Given the description of an element on the screen output the (x, y) to click on. 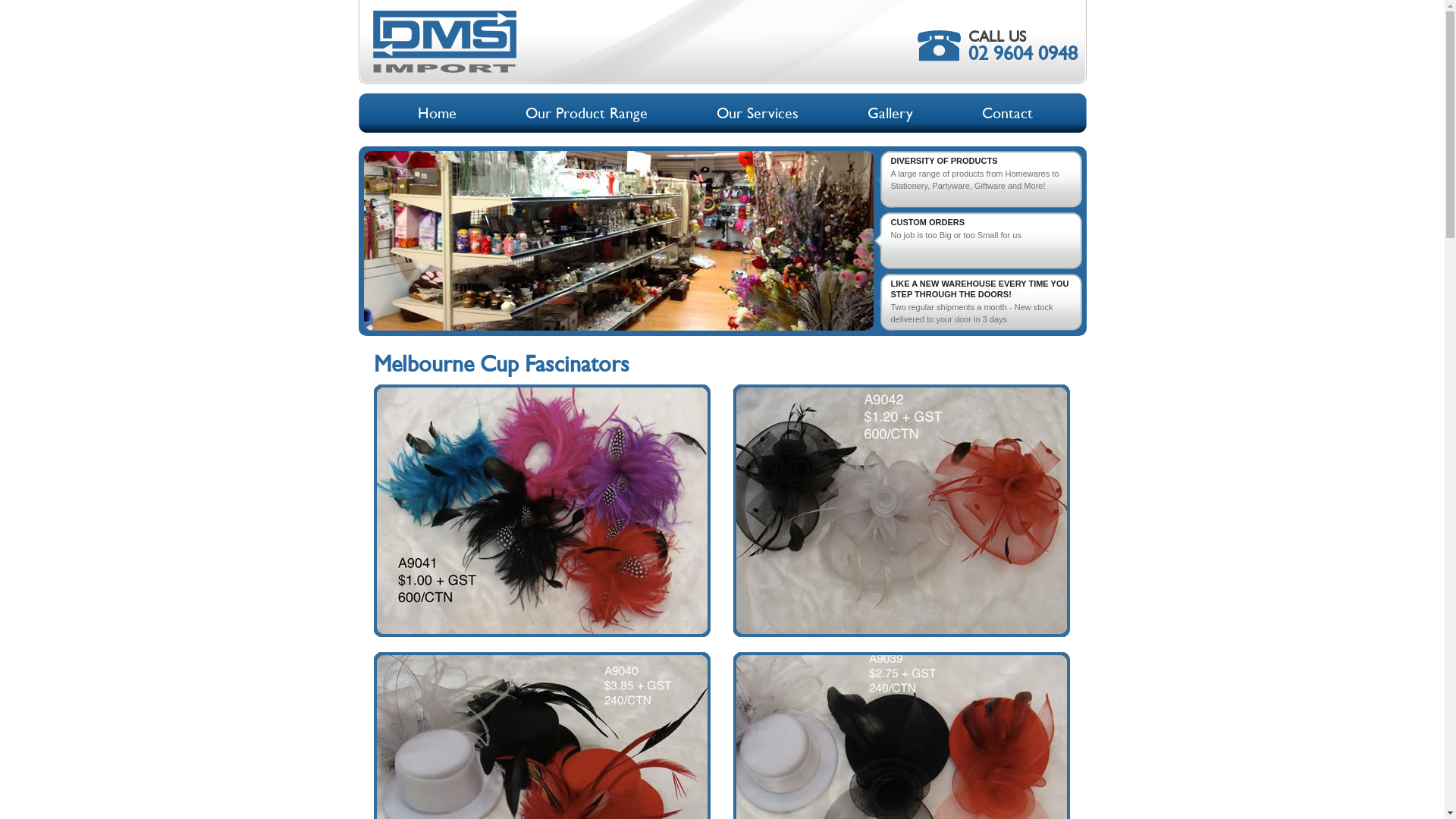
Gallery Element type: text (894, 112)
Contact Element type: text (1010, 112)
Our Services Element type: text (760, 112)
Home Element type: text (440, 112)
Our Product Range Element type: text (589, 112)
